Given the description of an element on the screen output the (x, y) to click on. 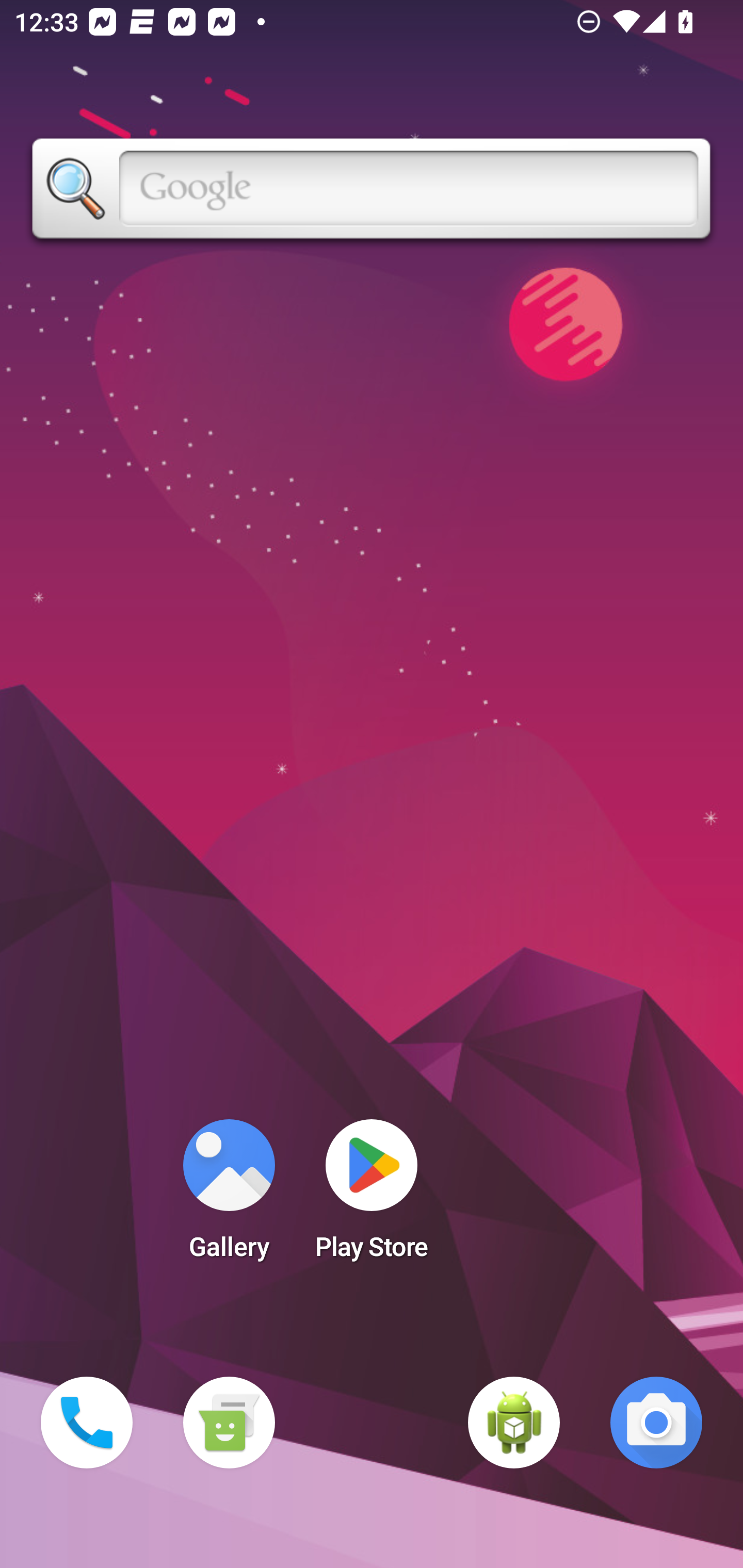
Gallery (228, 1195)
Play Store (371, 1195)
Phone (86, 1422)
Messaging (228, 1422)
WebView Browser Tester (513, 1422)
Camera (656, 1422)
